Given the description of an element on the screen output the (x, y) to click on. 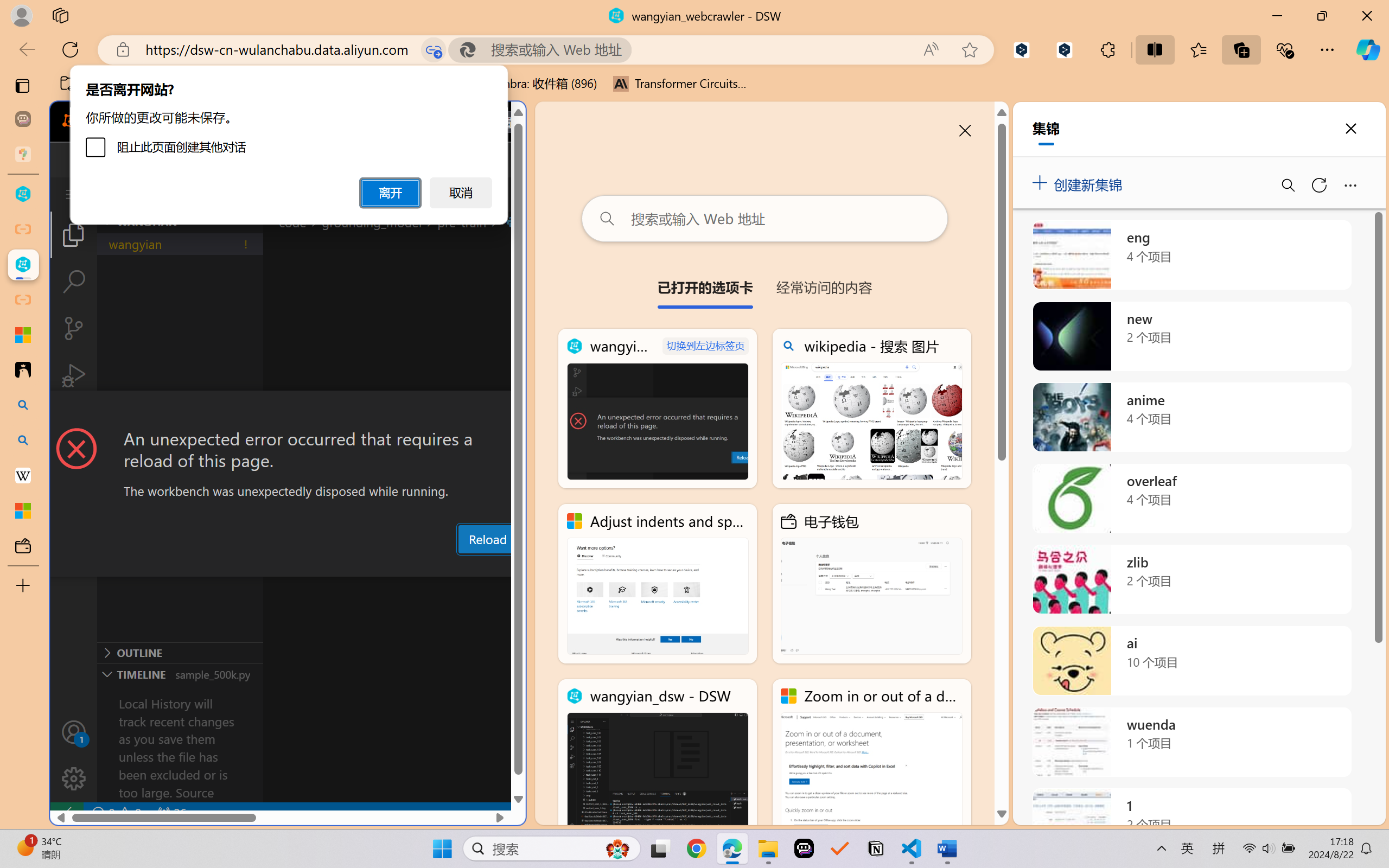
wangyian_dsw - DSW (657, 758)
Reload (486, 538)
Transformer Circuits Thread (680, 83)
